Given the description of an element on the screen output the (x, y) to click on. 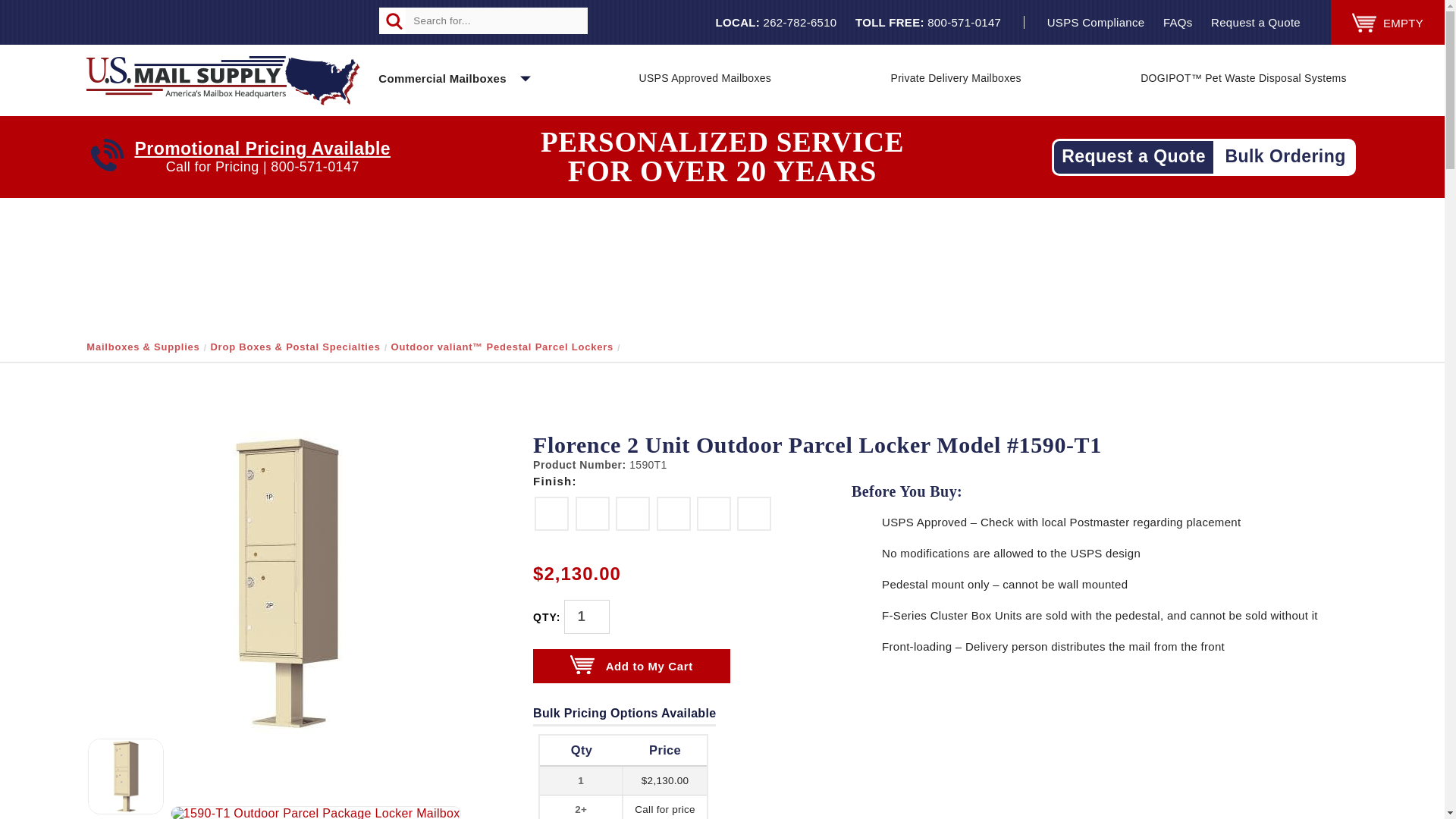
Search (392, 19)
1590-T1 Outdoor Parcel Package Locker Mailbox (287, 582)
Bulk Ordering (1284, 156)
LOCAL: 262-782-6510 (775, 22)
Request a Quote (1255, 22)
FAQs (705, 70)
US Mail Supply shopping cart. (1177, 22)
USPS Compliance (1363, 22)
1590-T1 Outdoor Parcel Package Locker Mailbox (1096, 22)
Commercial Mailboxes (315, 812)
Add to My Cart (448, 70)
Request a Quote (631, 666)
1590-T1 Outdoor Parcel Package Locker Mailbox (1133, 156)
